Given the description of an element on the screen output the (x, y) to click on. 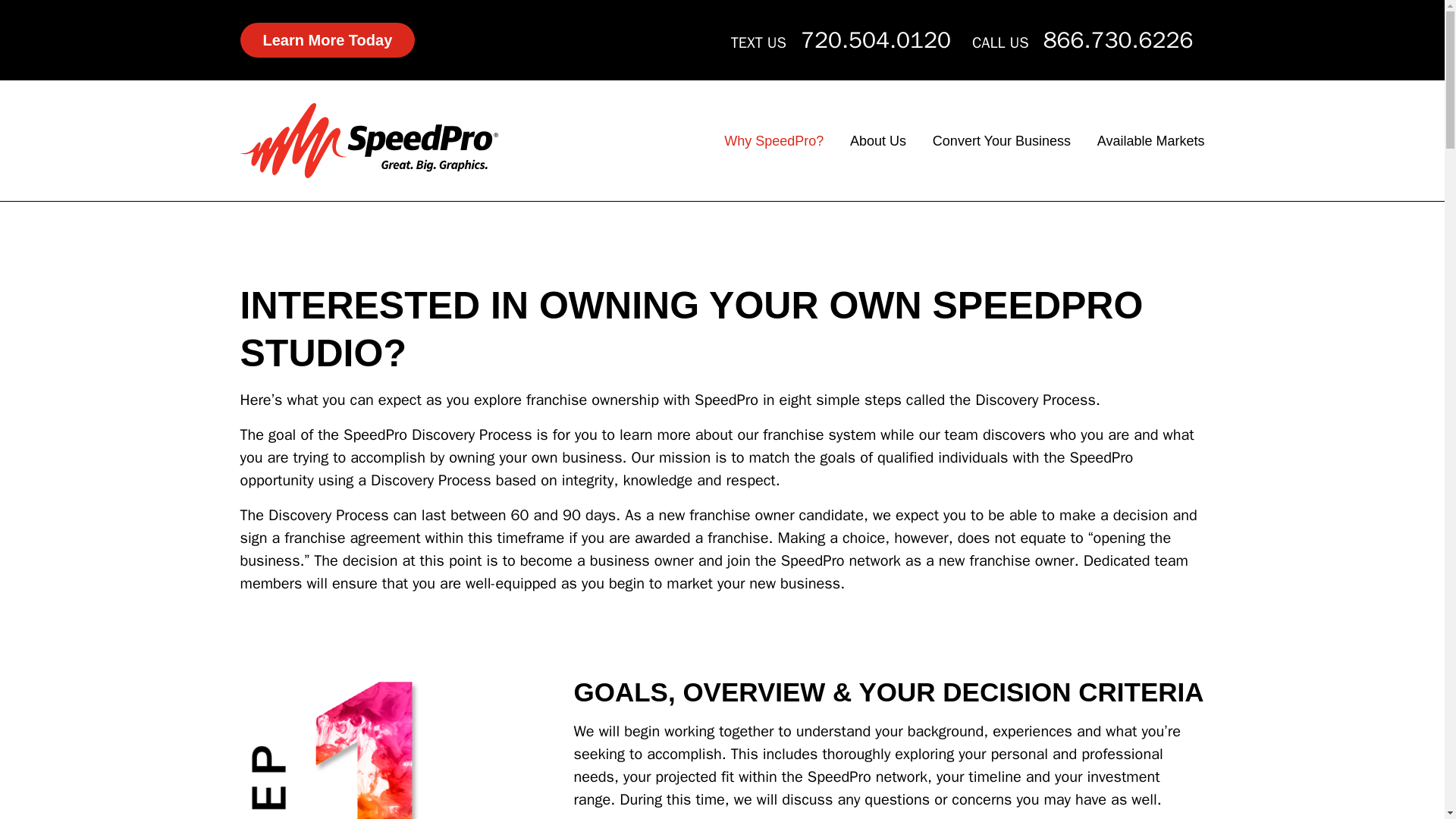
720.504.0120 (875, 39)
Why SpeedPro? (773, 140)
Convert Your Business (1001, 140)
Learn More Today (327, 39)
About Us (877, 140)
866.730.6226 (1118, 39)
SpeedPro Franchising (368, 140)
Available Markets (1151, 140)
